Given the description of an element on the screen output the (x, y) to click on. 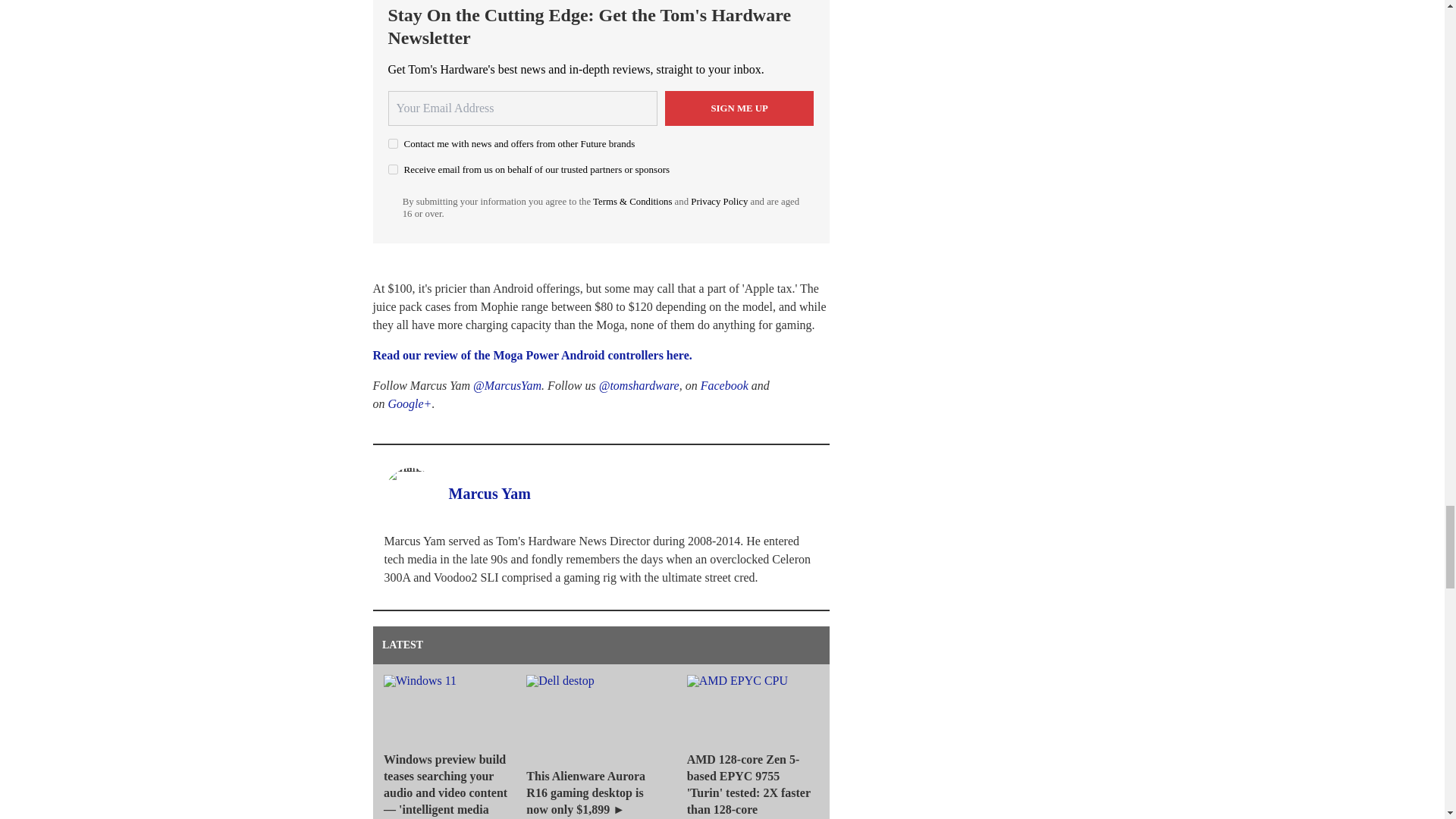
on (392, 169)
on (392, 143)
Sign me up (739, 108)
